Given the description of an element on the screen output the (x, y) to click on. 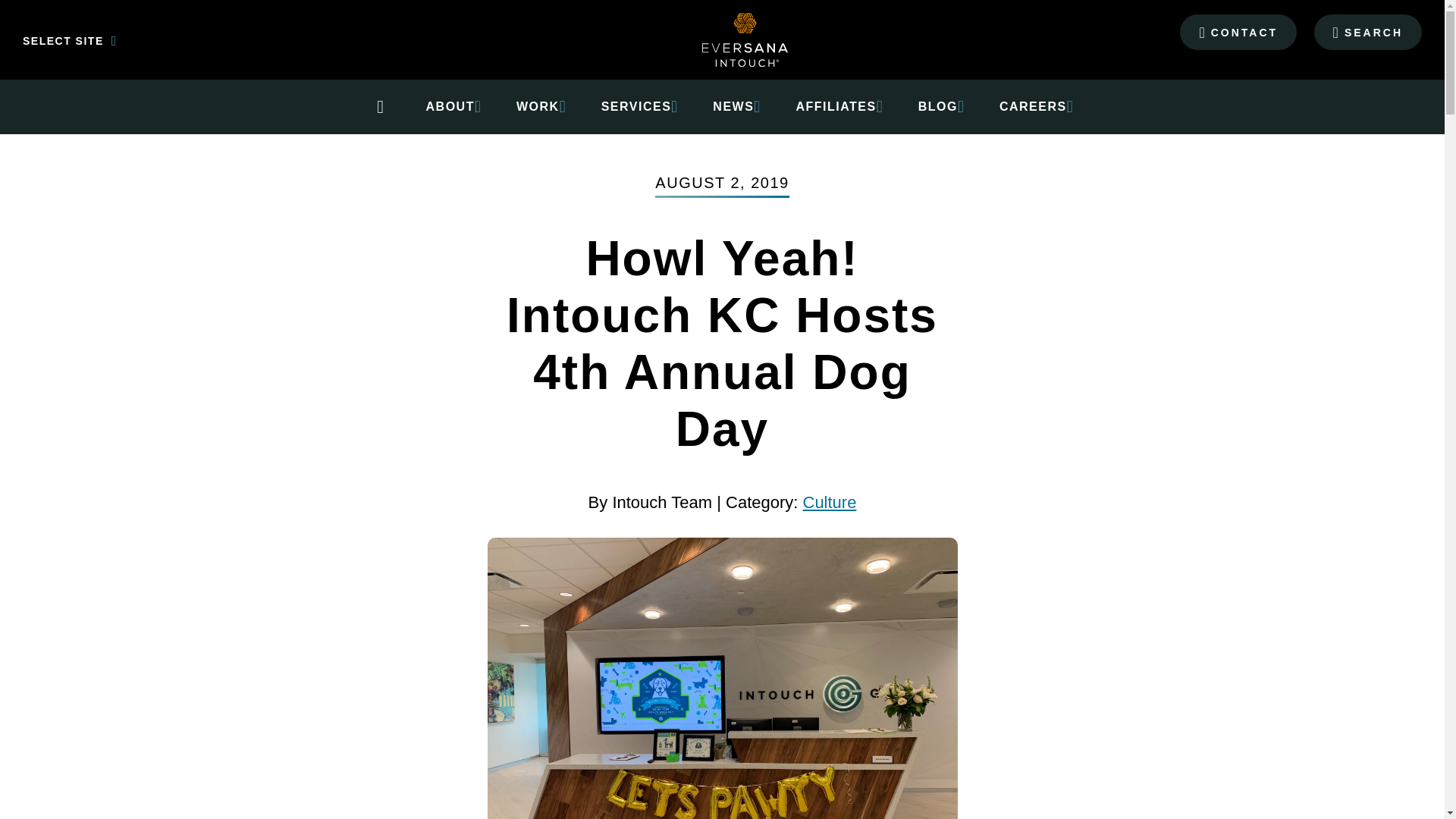
CONTACT (1238, 31)
SERVICES (636, 106)
ABOUT (450, 106)
SEARCH (1368, 31)
SELECT SITE (51, 40)
WORK (537, 106)
